Given the description of an element on the screen output the (x, y) to click on. 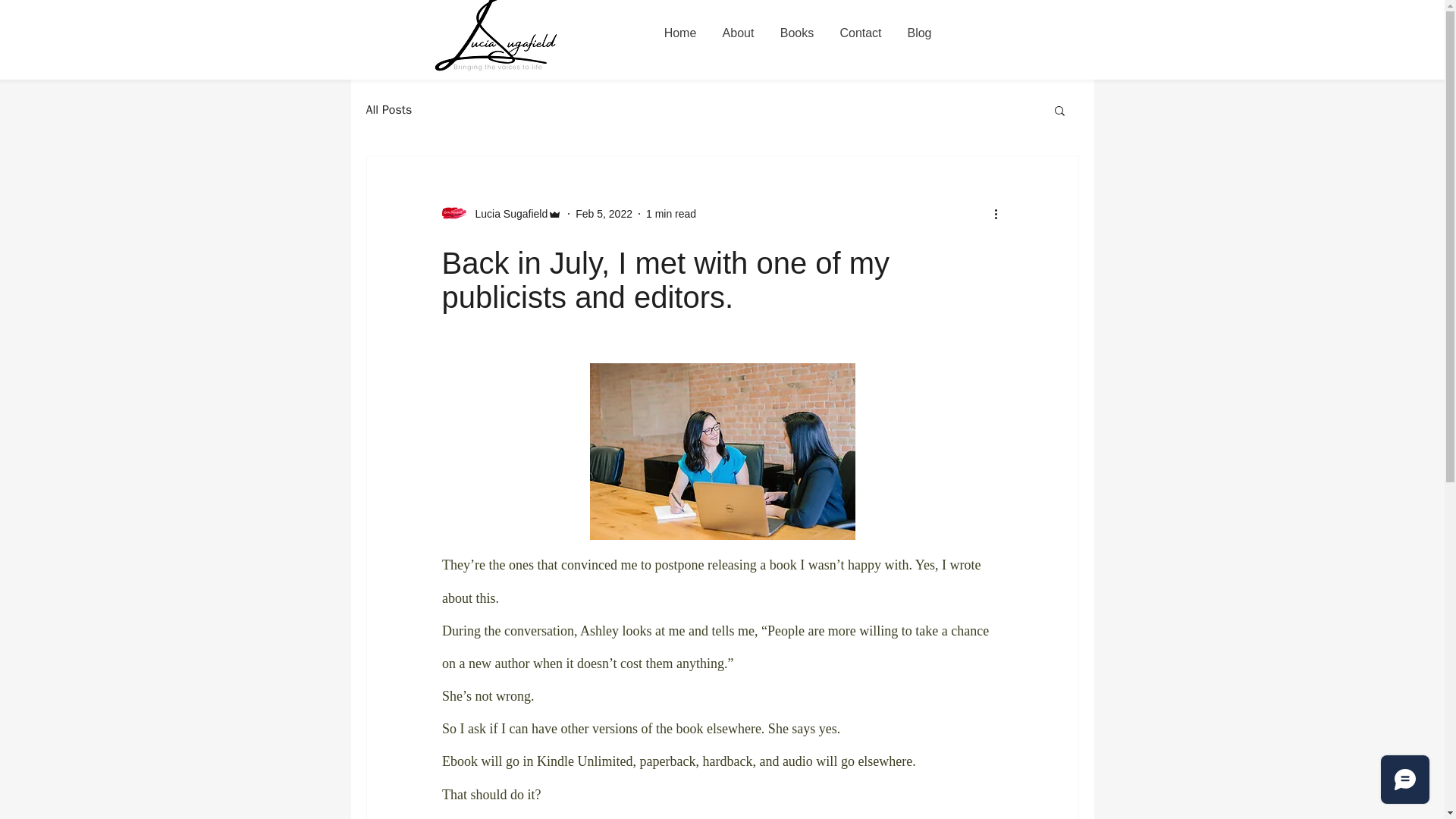
All Posts (388, 109)
About (738, 33)
Lucia Sugafield (506, 213)
Contact (860, 33)
1 min read (670, 214)
Feb 5, 2022 (603, 214)
Home (679, 33)
Lucia Sugafield (501, 213)
Books (797, 33)
Blog (919, 33)
